Given the description of an element on the screen output the (x, y) to click on. 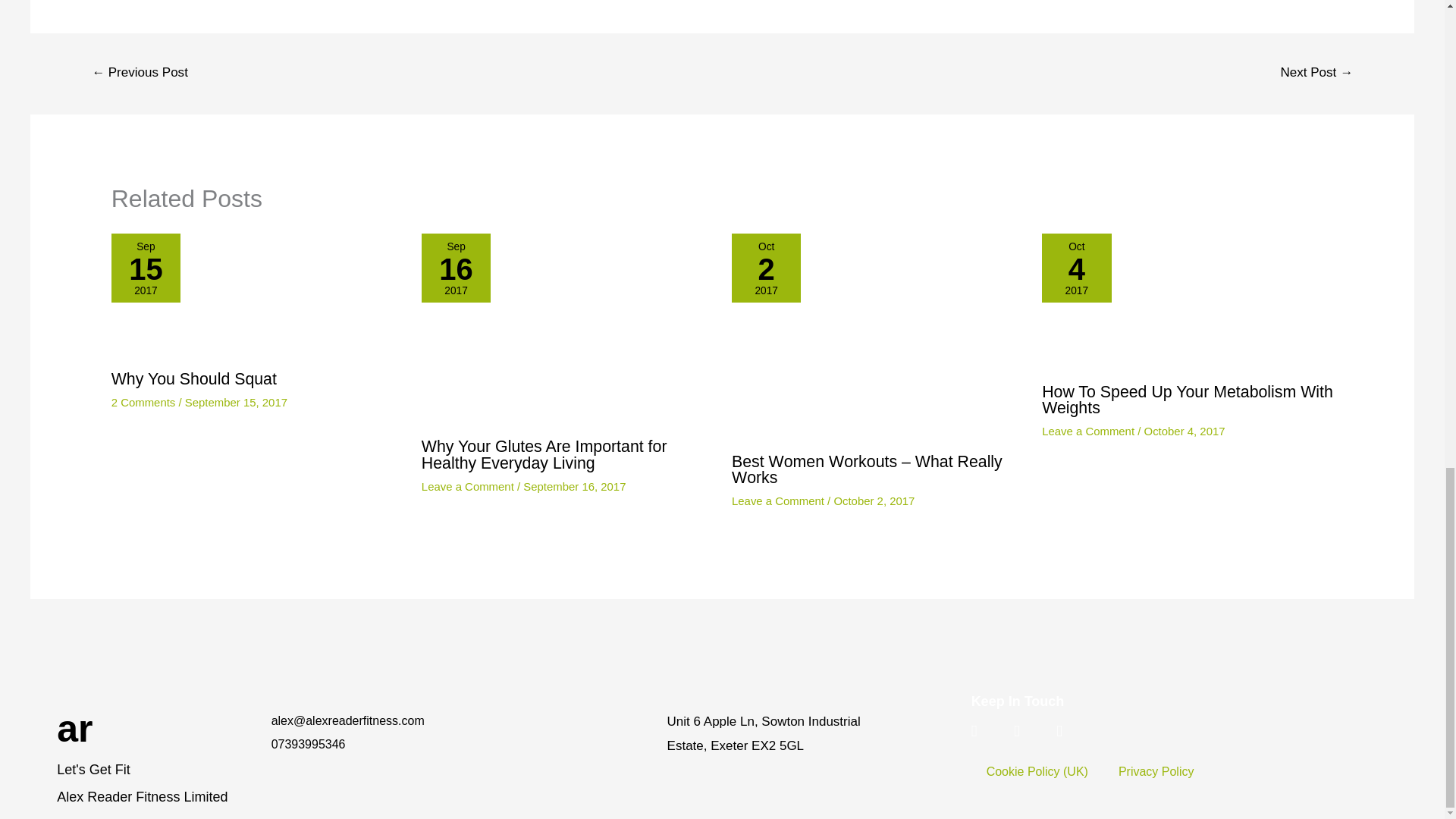
How To Speed Up Your Metabolism With Weights (1187, 399)
Why Your Glutes Are Important for Healthy Everyday Living (544, 454)
Privacy Policy (1156, 771)
Leave a Comment (467, 486)
Why You Should Squat (194, 379)
2 Comments (144, 401)
Leave a Comment (778, 500)
Leave a Comment (1088, 431)
